Given the description of an element on the screen output the (x, y) to click on. 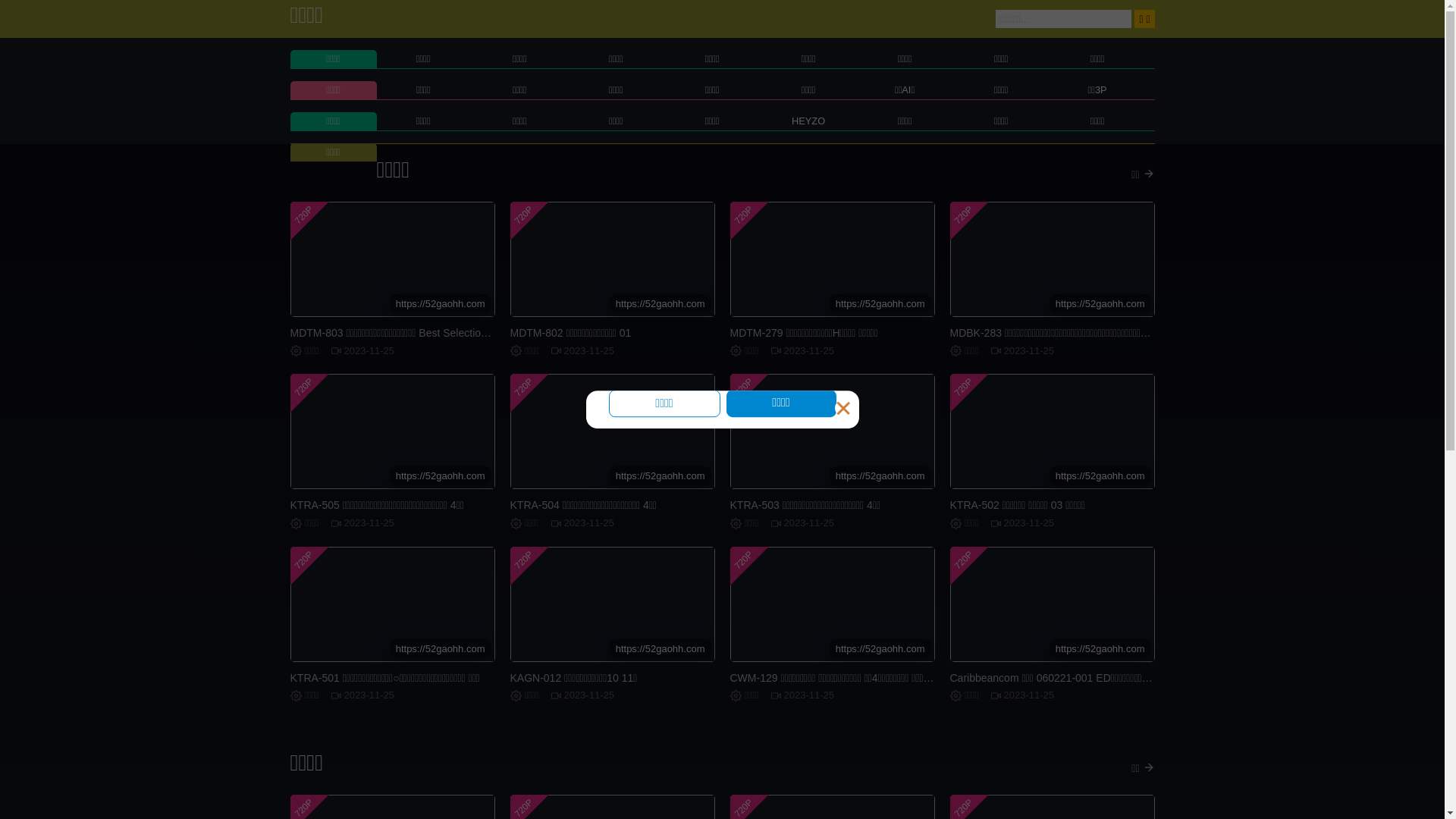
720P
https://52gaohh.com Element type: text (391, 431)
720P
https://52gaohh.com Element type: text (391, 604)
HEYZO Element type: text (808, 120)
720P
https://52gaohh.com Element type: text (611, 604)
720P
https://52gaohh.com Element type: text (1051, 604)
720P
https://52gaohh.com Element type: text (611, 258)
720P
https://52gaohh.com Element type: text (1051, 431)
720P
https://52gaohh.com Element type: text (1051, 258)
720P
https://52gaohh.com Element type: text (831, 258)
720P
https://52gaohh.com Element type: text (831, 604)
720P
https://52gaohh.com Element type: text (831, 431)
720P
https://52gaohh.com Element type: text (611, 431)
720P
https://52gaohh.com Element type: text (391, 258)
